Given the description of an element on the screen output the (x, y) to click on. 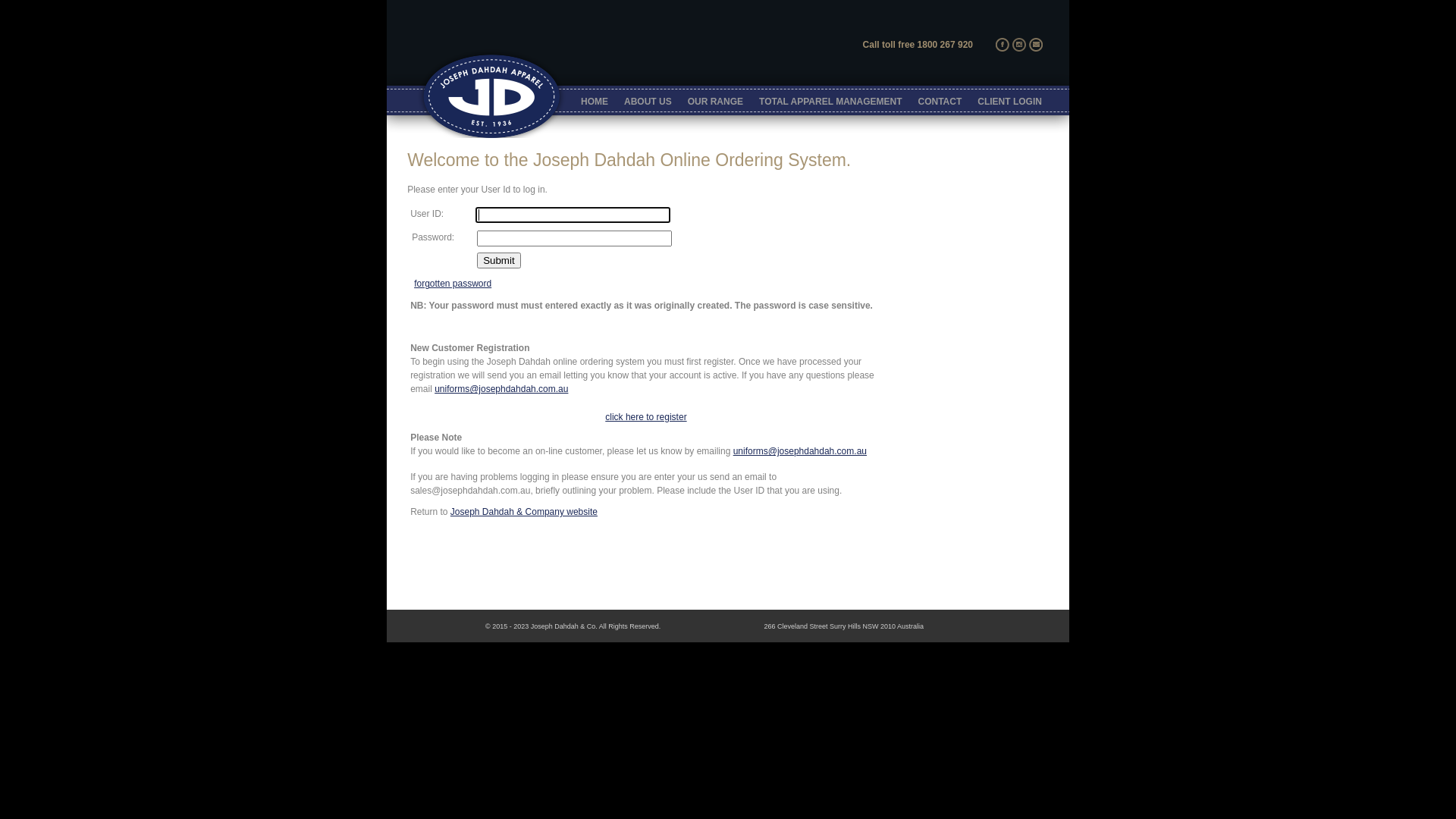
TOTAL APPAREL MANAGEMENT Element type: text (830, 101)
click here to register Element type: text (645, 416)
CLIENT LOGIN Element type: text (1009, 101)
HOME Element type: text (594, 101)
forgotten password Element type: text (452, 283)
uniforms@josephdahdah.com.au Element type: text (500, 388)
Joseph Dahdah & Company website Element type: text (523, 511)
OUR RANGE Element type: text (715, 101)
Submit Element type: text (498, 260)
CONTACT Element type: text (939, 101)
uniforms@josephdahdah.com.au Element type: text (799, 450)
ABOUT US Element type: text (647, 101)
